Given the description of an element on the screen output the (x, y) to click on. 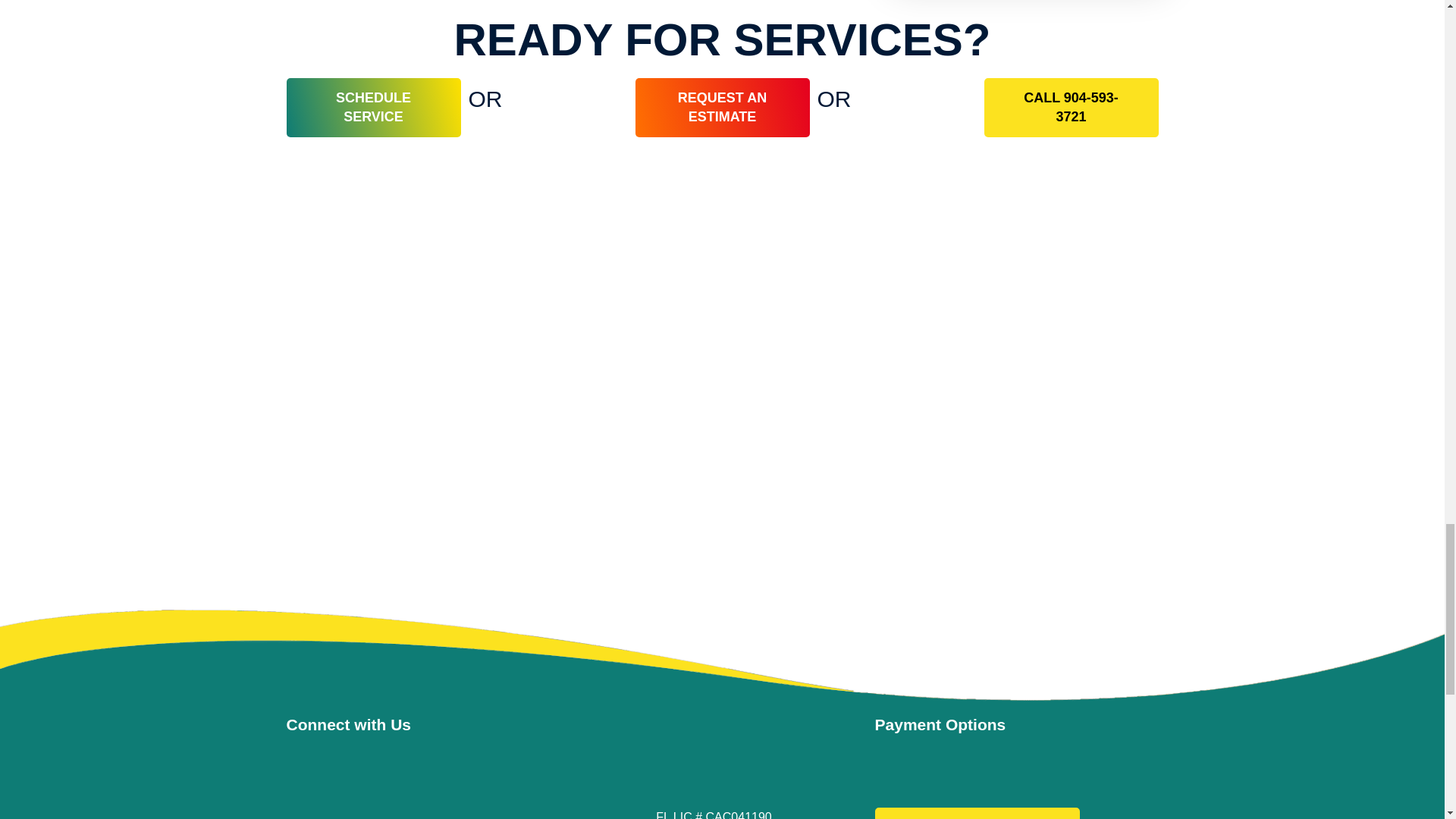
Google Map (419, 783)
